Given the description of an element on the screen output the (x, y) to click on. 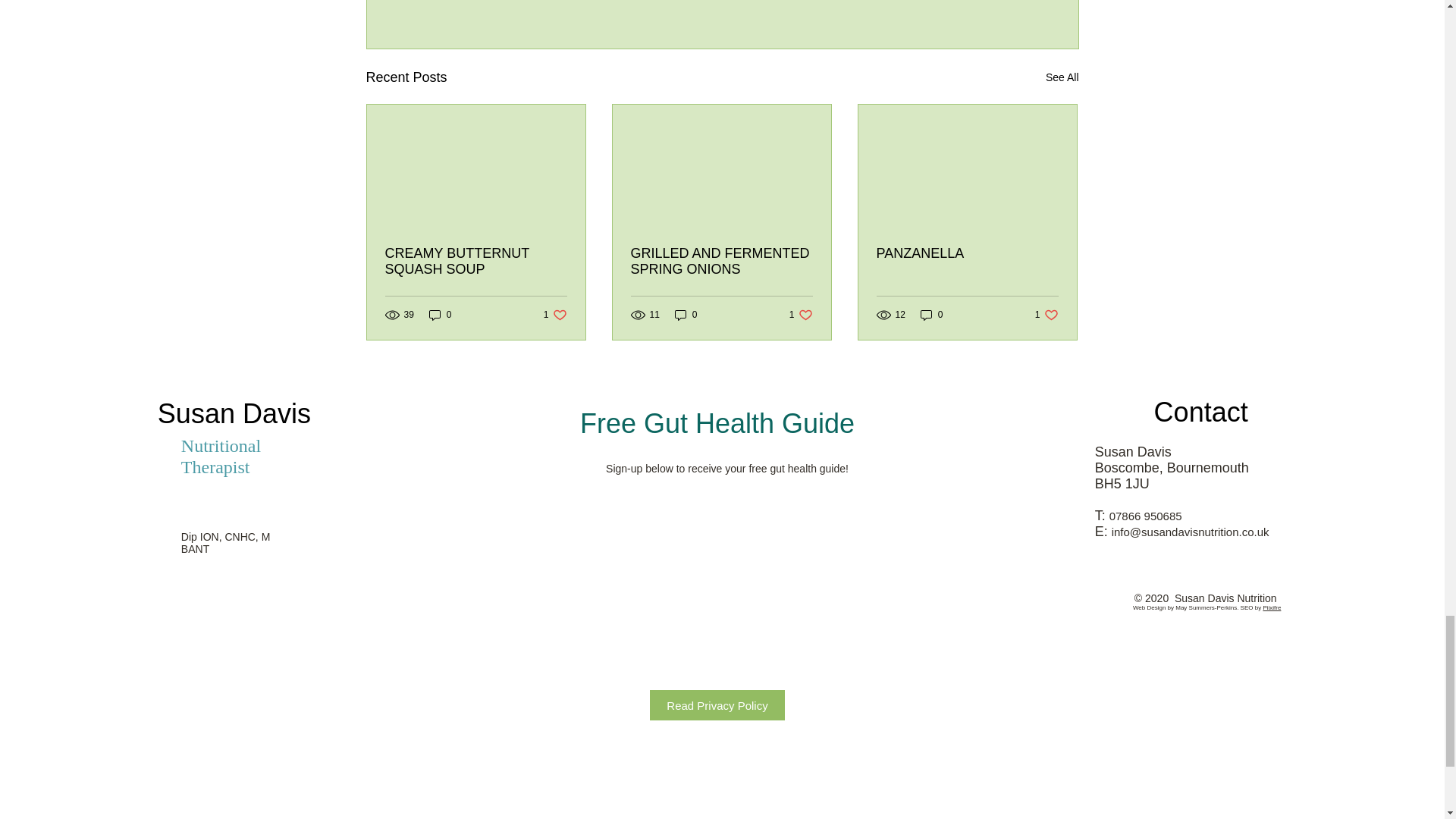
GRILLED AND FERMENTED SPRING ONIONS (555, 314)
Twitter Follow (721, 261)
0 (183, 611)
0 (931, 314)
See All (685, 314)
PANZANELLA (1061, 77)
CREAMY BUTTERNUT SQUASH SOUP (967, 253)
0 (476, 261)
Post not marked as liked (1046, 314)
